Given the description of an element on the screen output the (x, y) to click on. 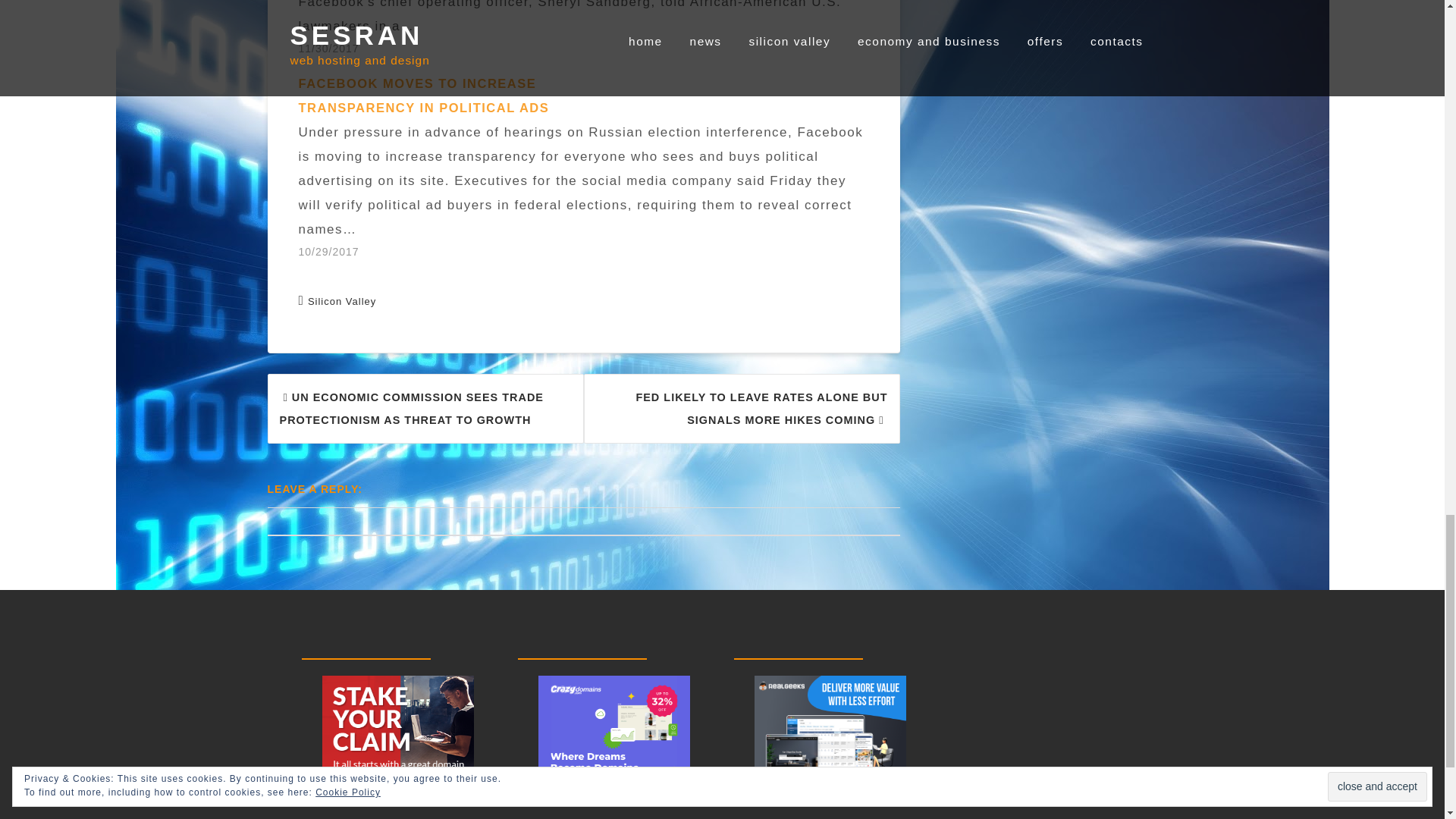
Facebook Moves to Increase Transparency in Political Ads (424, 95)
Facebook Moves to Increase Transparency in Political Ads (590, 167)
Silicon Valley (341, 301)
FACEBOOK MOVES TO INCREASE TRANSPARENCY IN POLITICAL ADS (424, 95)
